Given the description of an element on the screen output the (x, y) to click on. 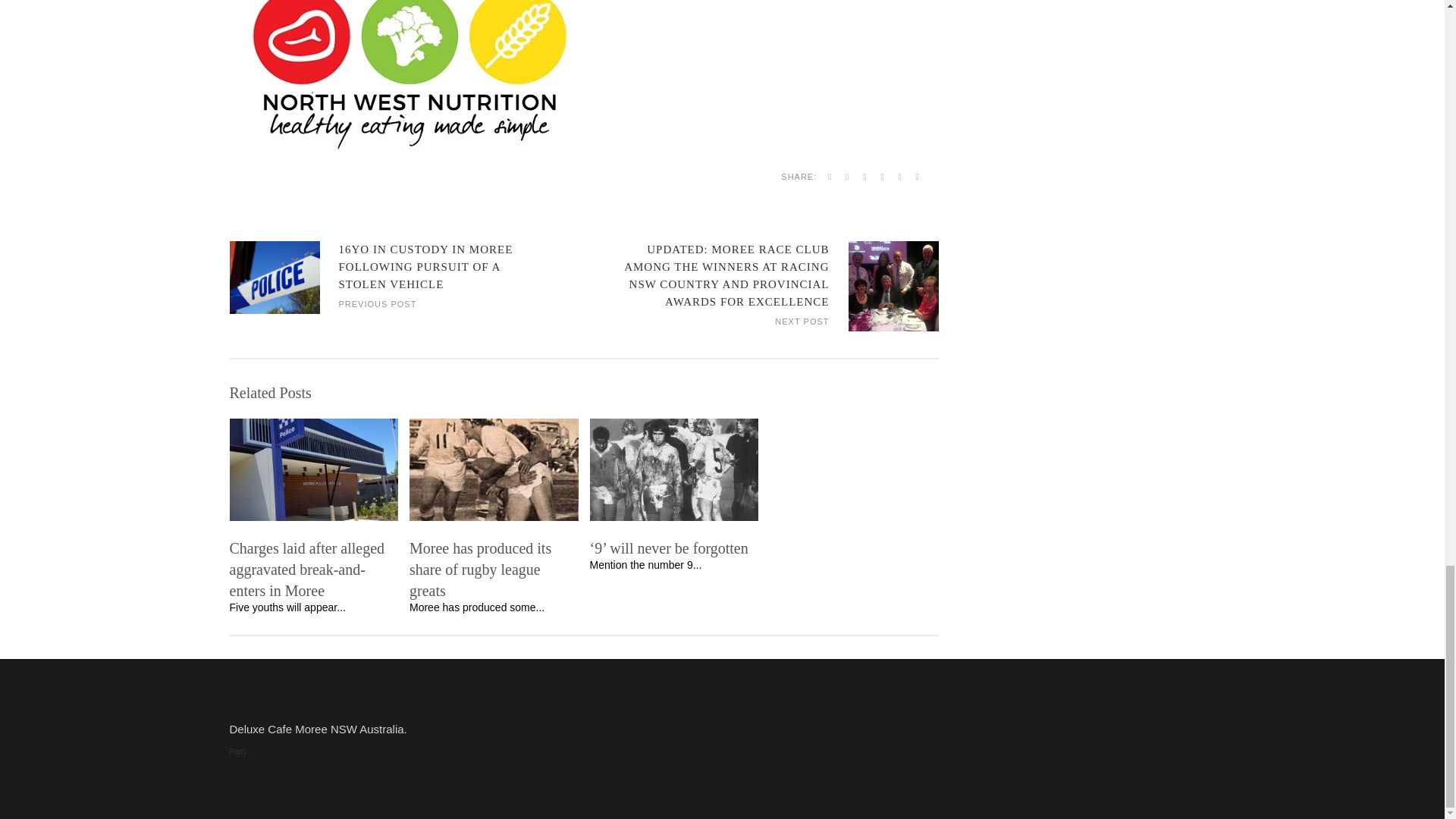
PREVIOUS POST (376, 302)
Moree has produced its share of rugby league greats (493, 569)
